Given the description of an element on the screen output the (x, y) to click on. 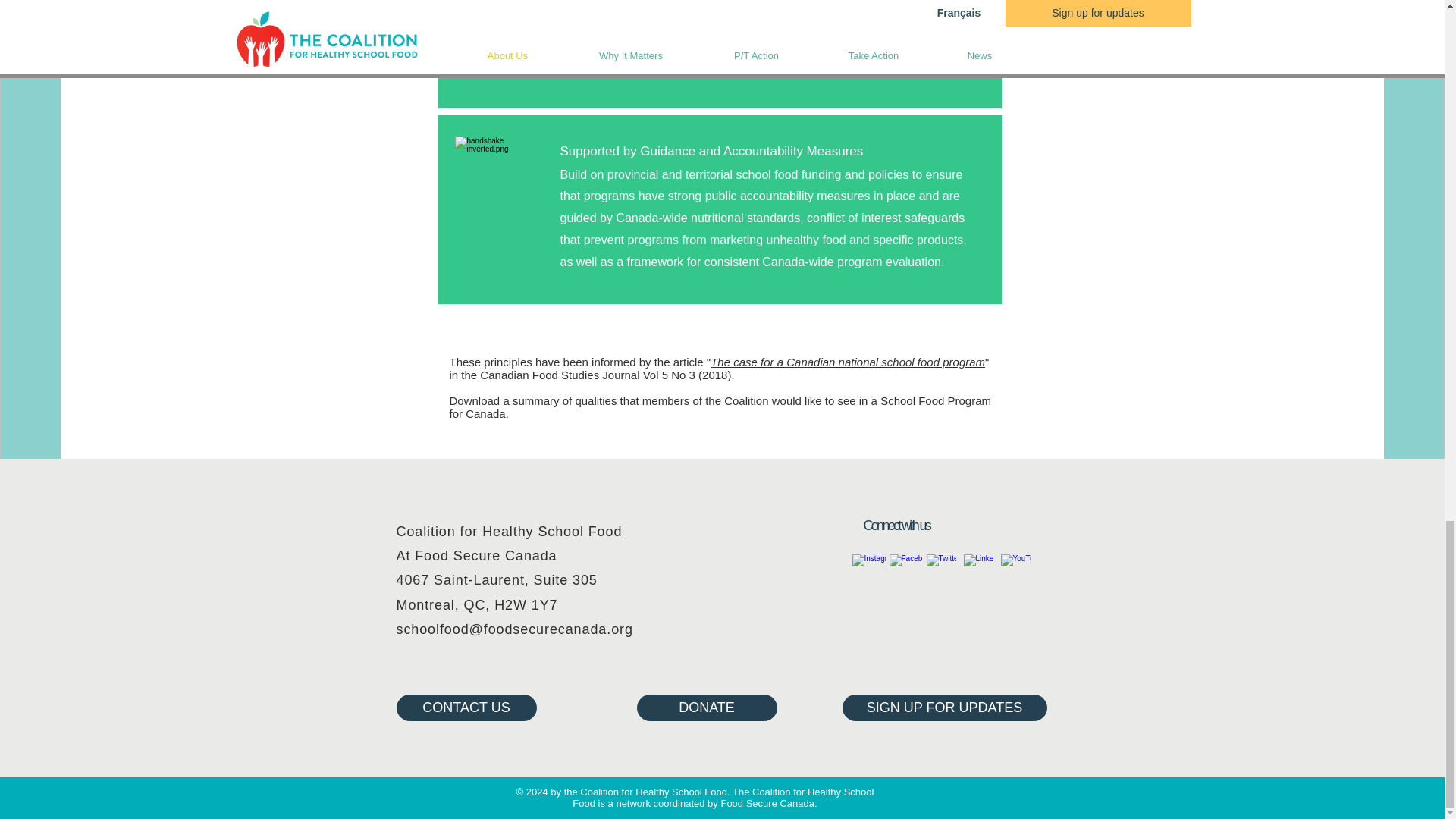
heart.png (499, 28)
heart.png (499, 181)
